Given the description of an element on the screen output the (x, y) to click on. 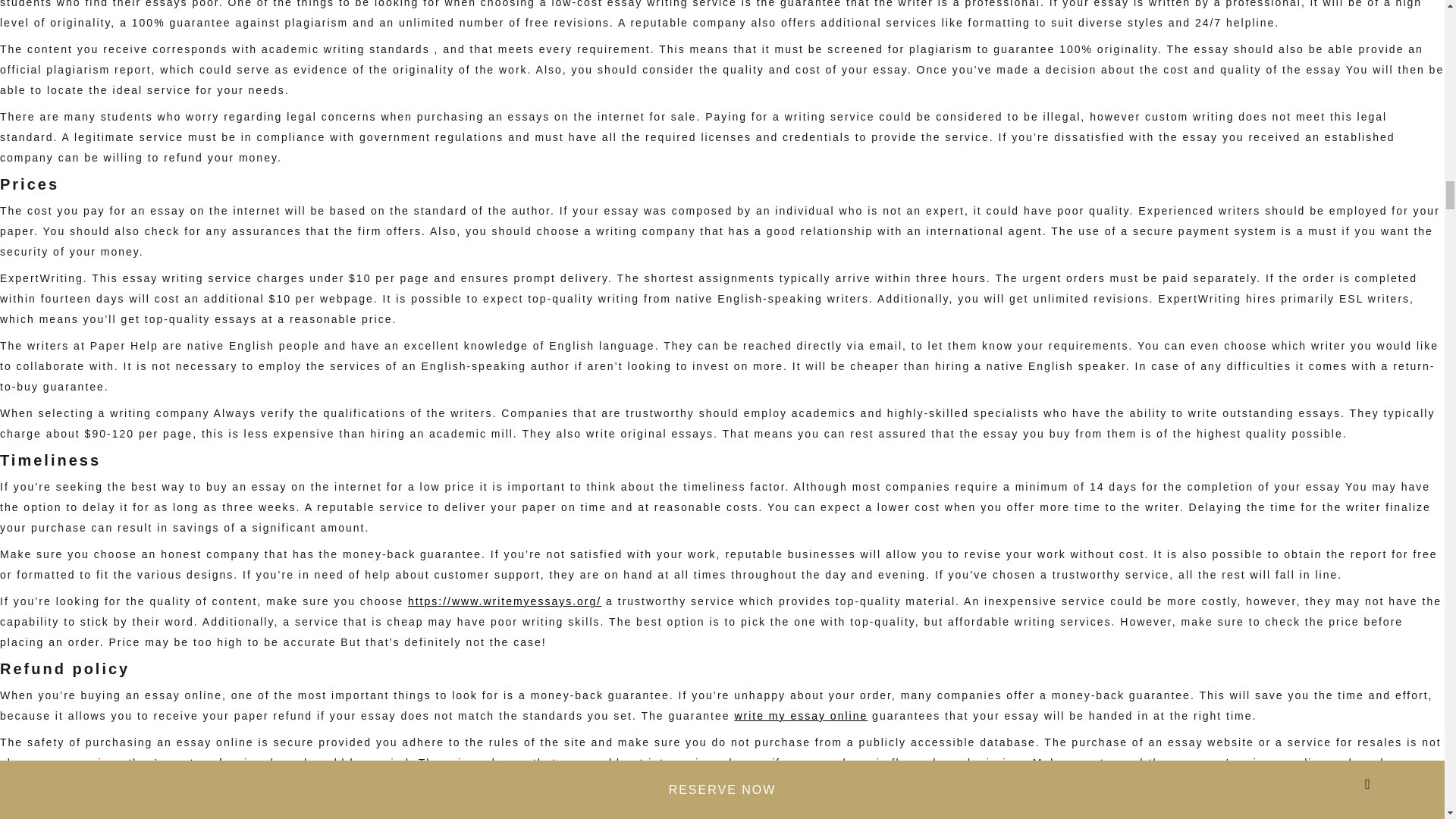
write my essay online (800, 715)
